Given the description of an element on the screen output the (x, y) to click on. 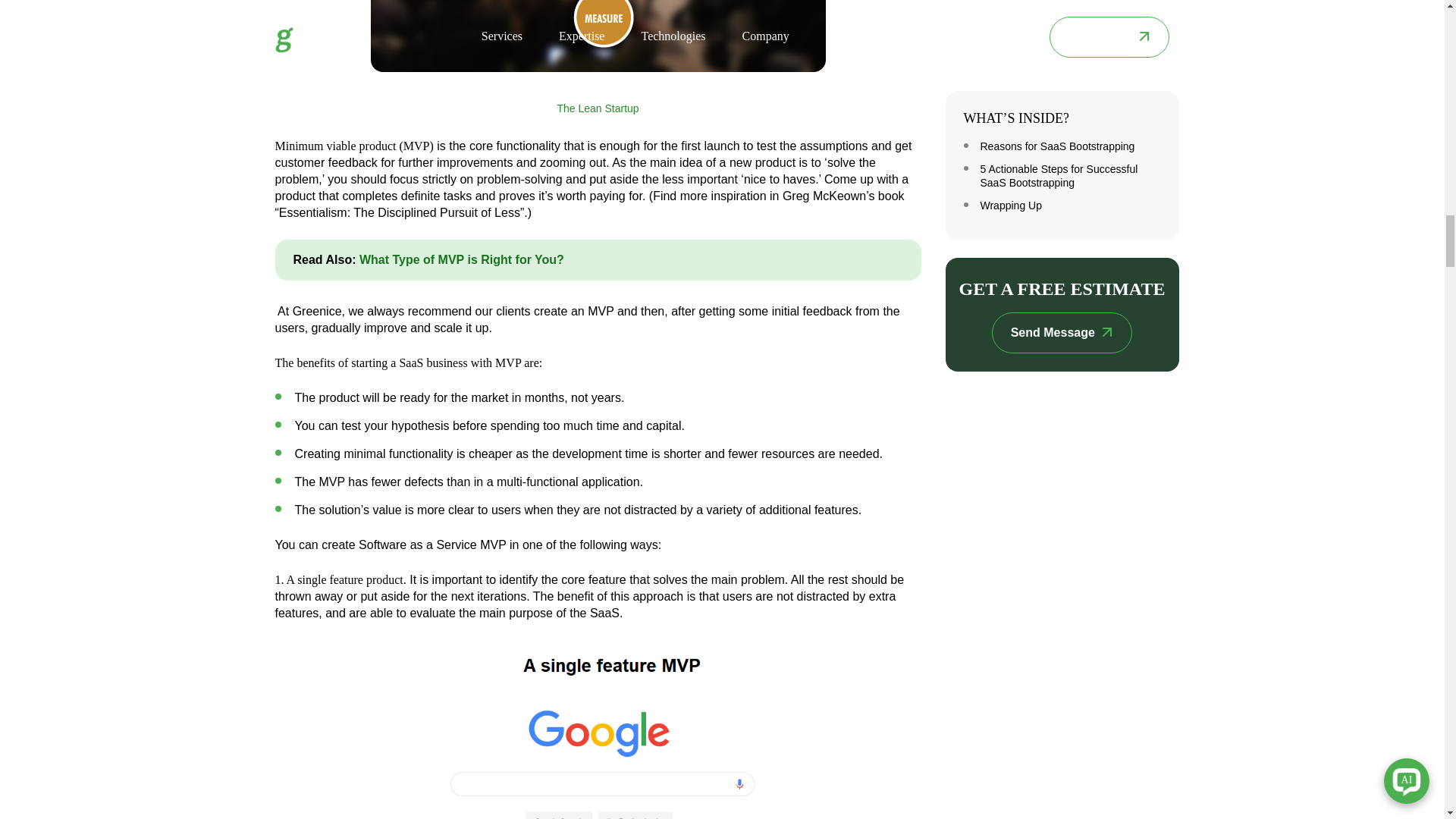
The Lean Startup (597, 108)
Google (597, 729)
Lean Startup principles (597, 36)
